Given the description of an element on the screen output the (x, y) to click on. 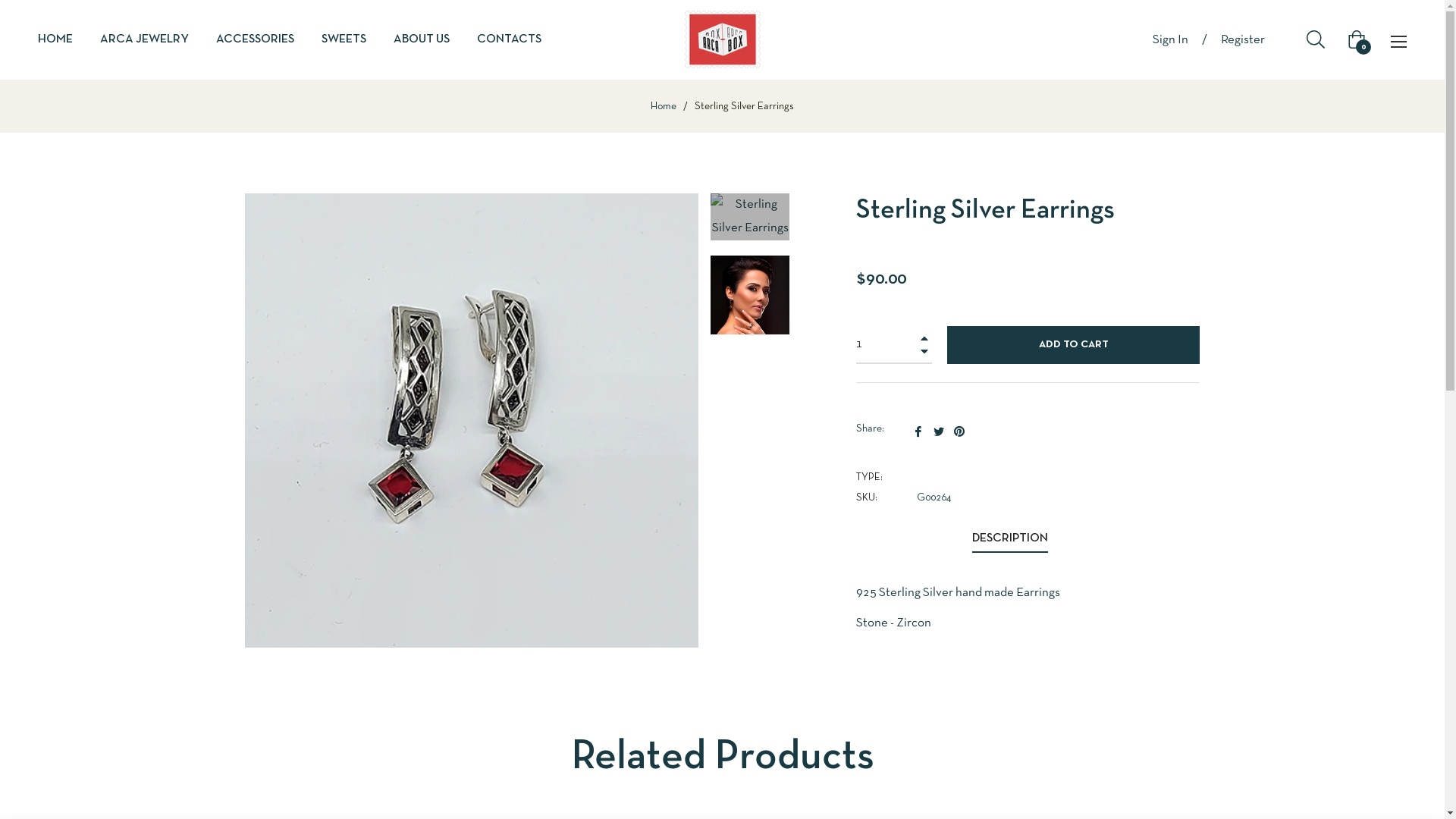
ACCESSORIES Element type: text (254, 39)
Share on Facebook Element type: text (919, 430)
+ Element type: text (923, 337)
ADD TO CART Element type: text (1073, 345)
Sign In Element type: text (1170, 39)
Pin on Pinterest Element type: text (958, 430)
HOME Element type: text (61, 39)
DESCRIPTION Element type: text (1010, 539)
Tweet on Twitter Element type: text (939, 430)
SWEETS Element type: text (343, 39)
Home Element type: text (663, 106)
Register Element type: text (1242, 39)
CONTACTS Element type: text (509, 39)
ARCA JEWELRY Element type: text (144, 39)
ABOUT US Element type: text (421, 39)
